Given the description of an element on the screen output the (x, y) to click on. 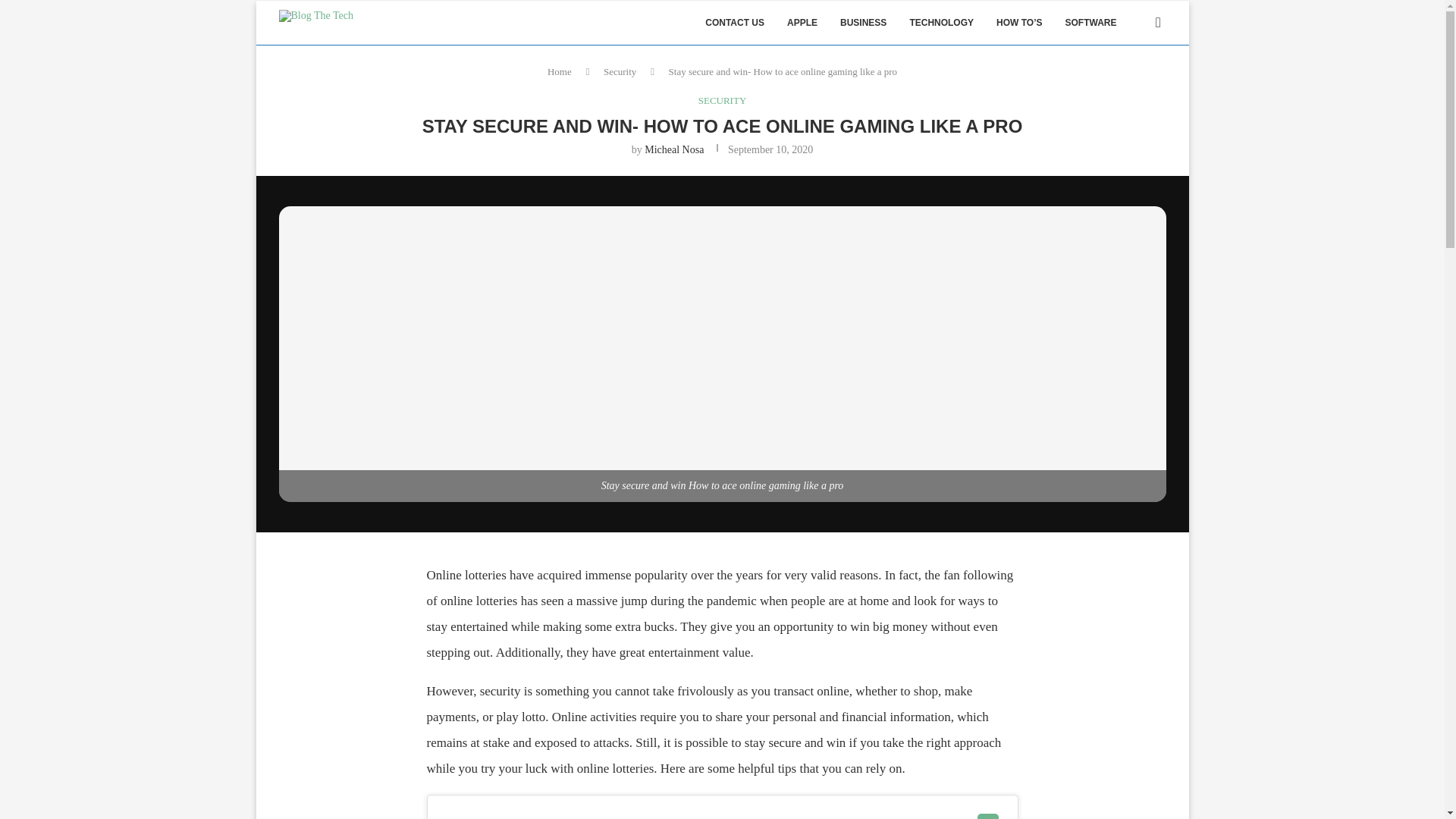
Security (620, 71)
Home (559, 71)
SOFTWARE (1090, 22)
BUSINESS (863, 22)
CONTACT US (734, 22)
SECURITY (722, 101)
Micheal Nosa (674, 149)
TECHNOLOGY (941, 22)
